Given the description of an element on the screen output the (x, y) to click on. 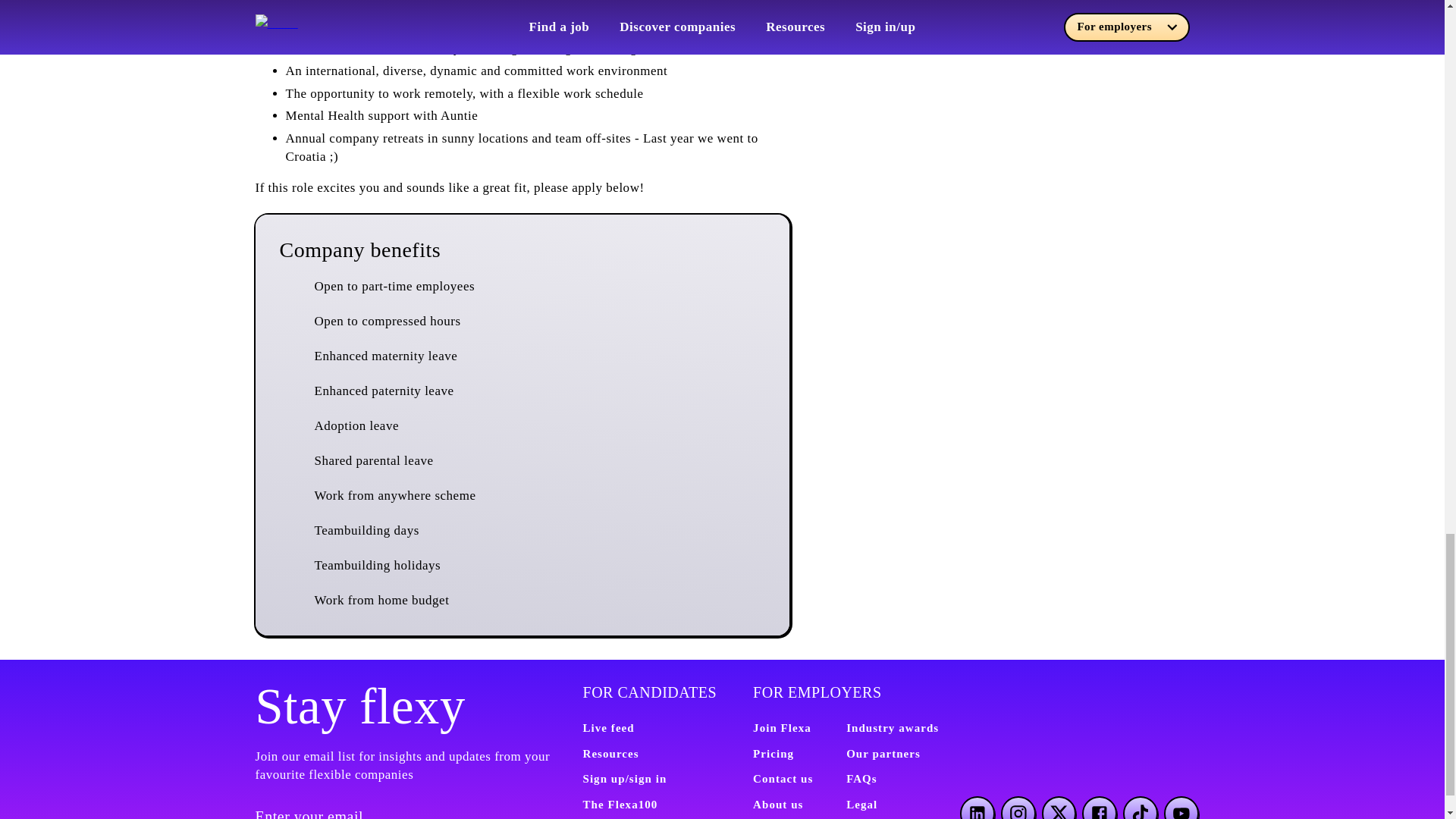
About us (777, 804)
Join Flexa (781, 727)
Contact us (782, 778)
Pricing (772, 753)
Legal (861, 804)
Our partners (882, 753)
Industry awards (892, 727)
FAQs (861, 778)
Resources (610, 753)
The Flexa100 (620, 804)
